Given the description of an element on the screen output the (x, y) to click on. 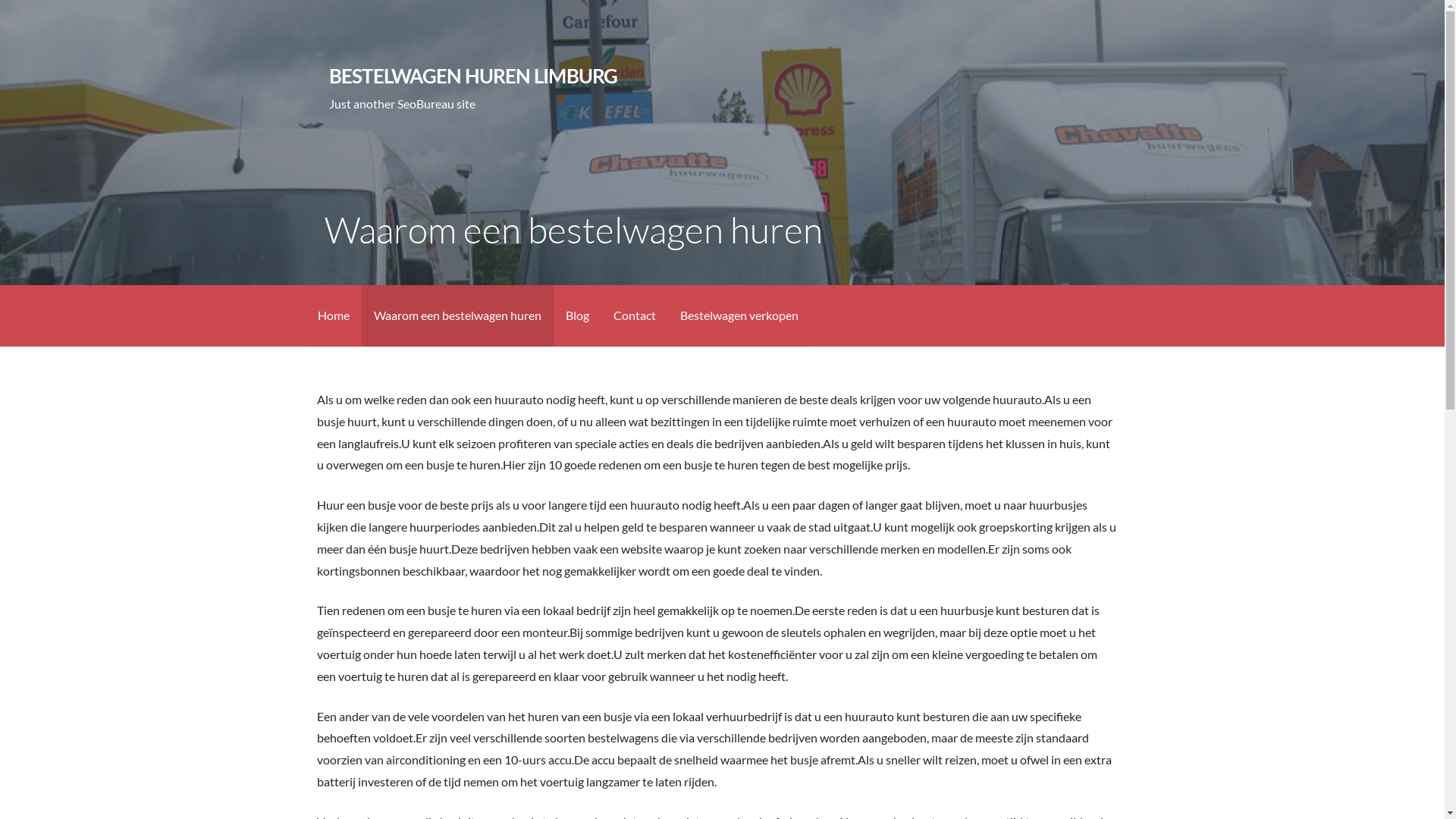
Contact Element type: text (633, 315)
Waarom een bestelwagen huren Element type: text (456, 315)
Bestelwagen verkopen Element type: text (738, 315)
BESTELWAGEN HUREN LIMBURG Element type: text (473, 75)
Blog Element type: text (577, 315)
Home Element type: text (332, 315)
